Given the description of an element on the screen output the (x, y) to click on. 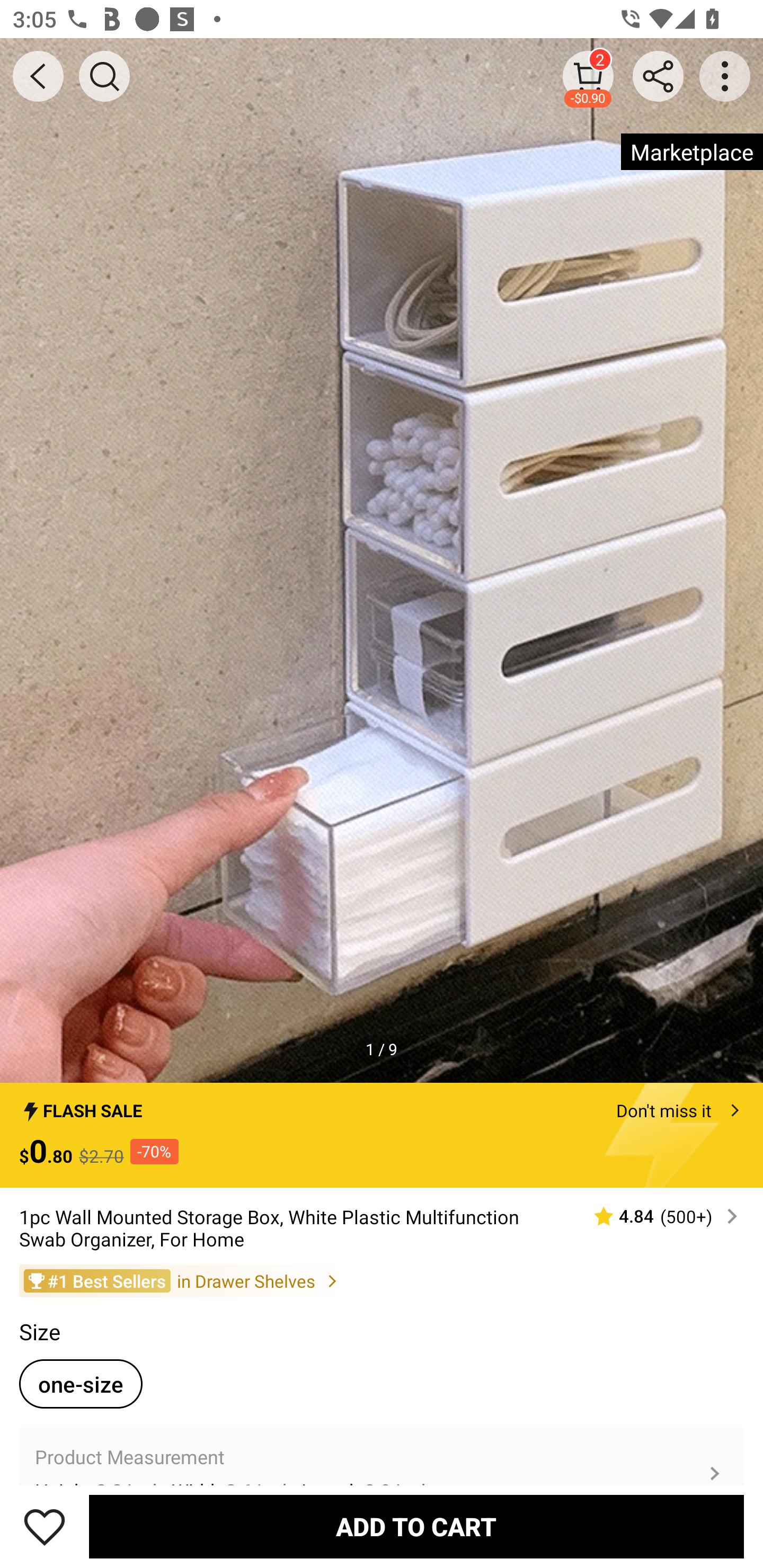
BACK (38, 75)
2 -$0.90 (588, 75)
1 / 9 (381, 1048)
FLASH SALE Don't miss it $0.80 $2.70 -70% (381, 1134)
FLASH SALE Don't miss it (381, 1105)
4.84 (500‎+) (658, 1216)
#1 Best Sellers in Drawer Shelves (381, 1279)
Size (39, 1331)
one-size one-sizeselected option (80, 1383)
ADD TO CART (416, 1526)
Save (44, 1526)
